Given the description of an element on the screen output the (x, y) to click on. 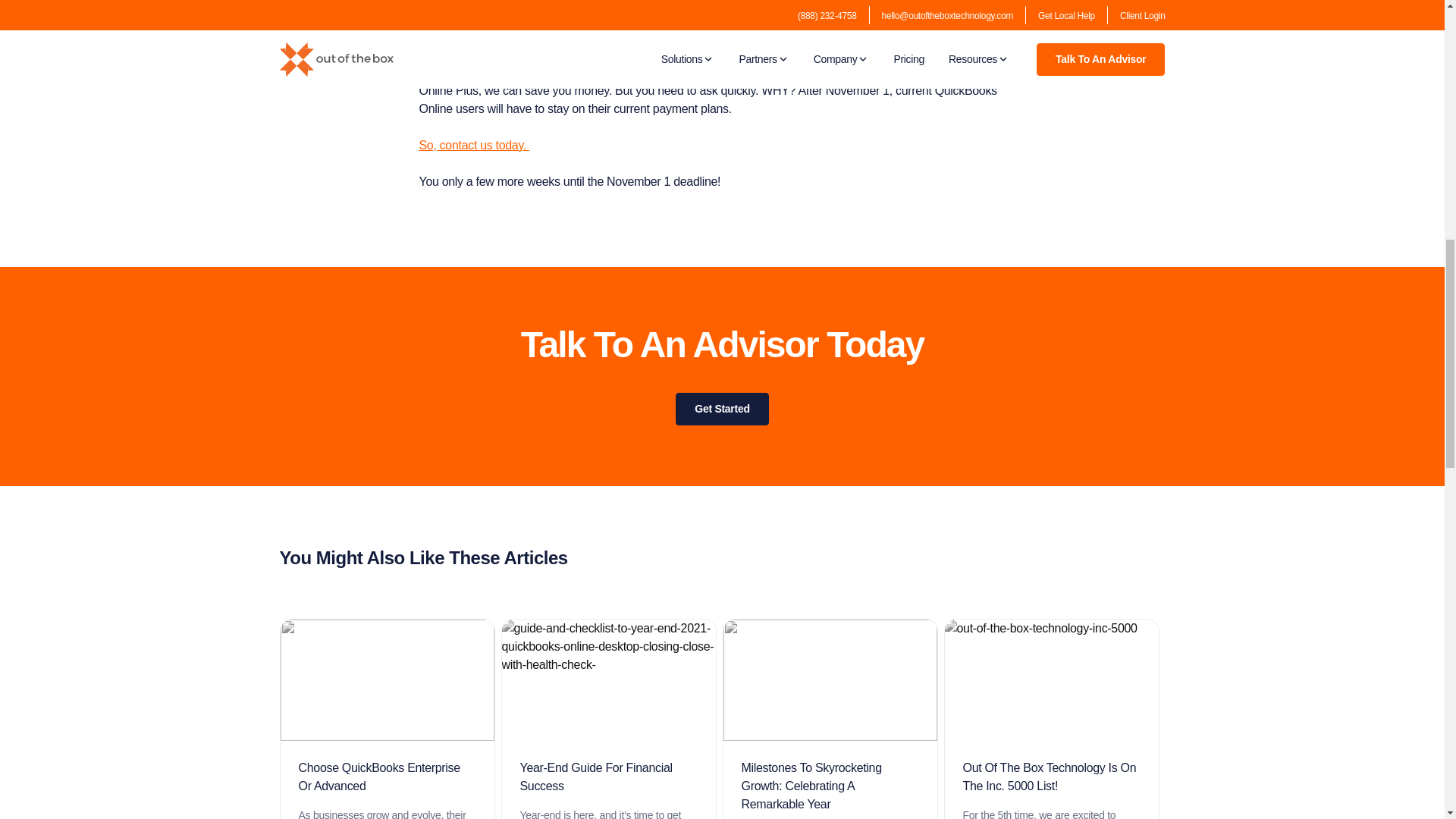
Out Of The Box Technology Is On The Inc. 5000 List! (1051, 777)
Year-End Guide For Financial Success (608, 777)
Get Started (721, 409)
Choose QuickBooks Enterprise Or Advanced (387, 777)
So, contact us today.  (474, 144)
